Given the description of an element on the screen output the (x, y) to click on. 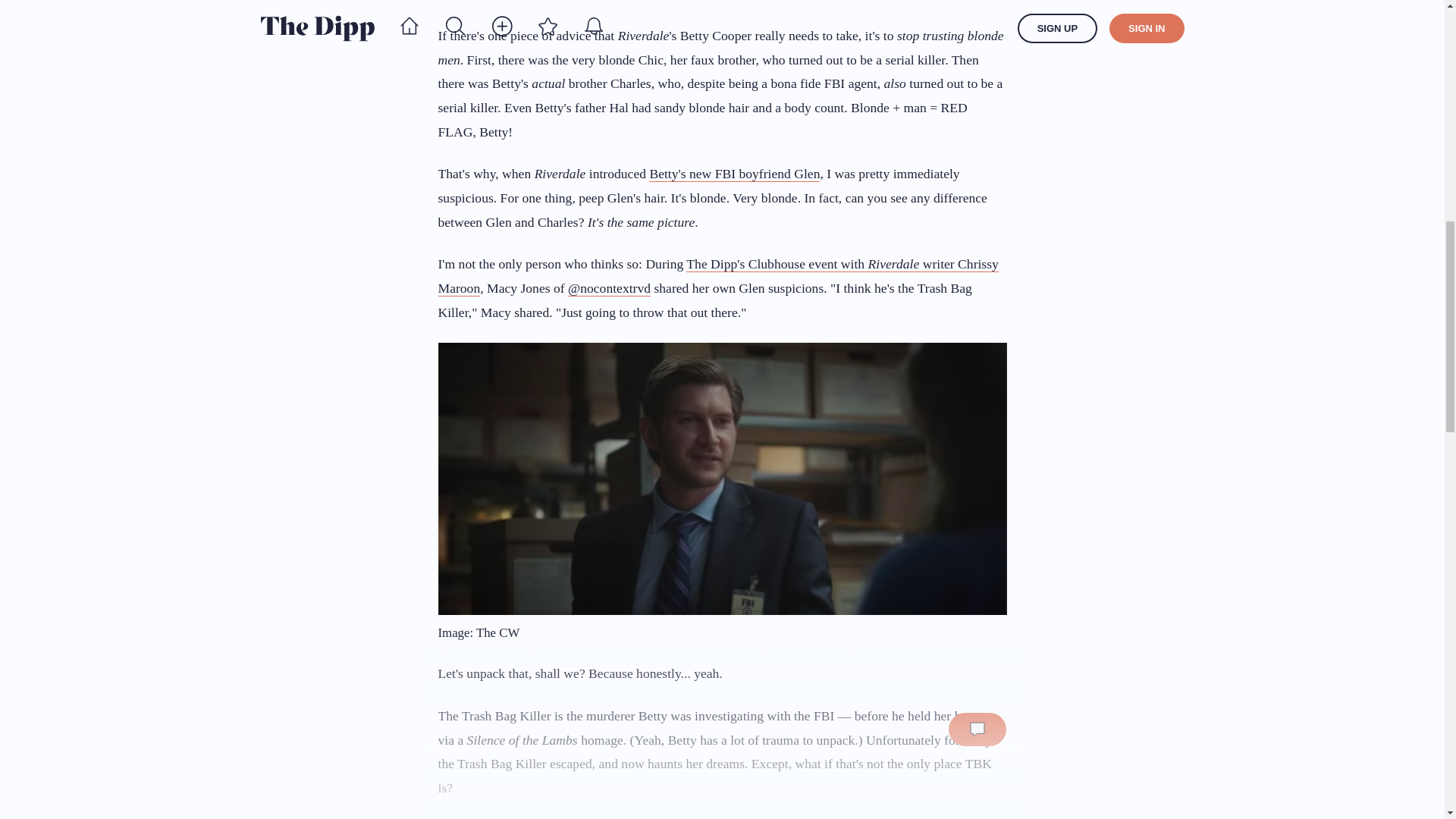
Betty's new FBI boyfriend Glen (734, 173)
